Given the description of an element on the screen output the (x, y) to click on. 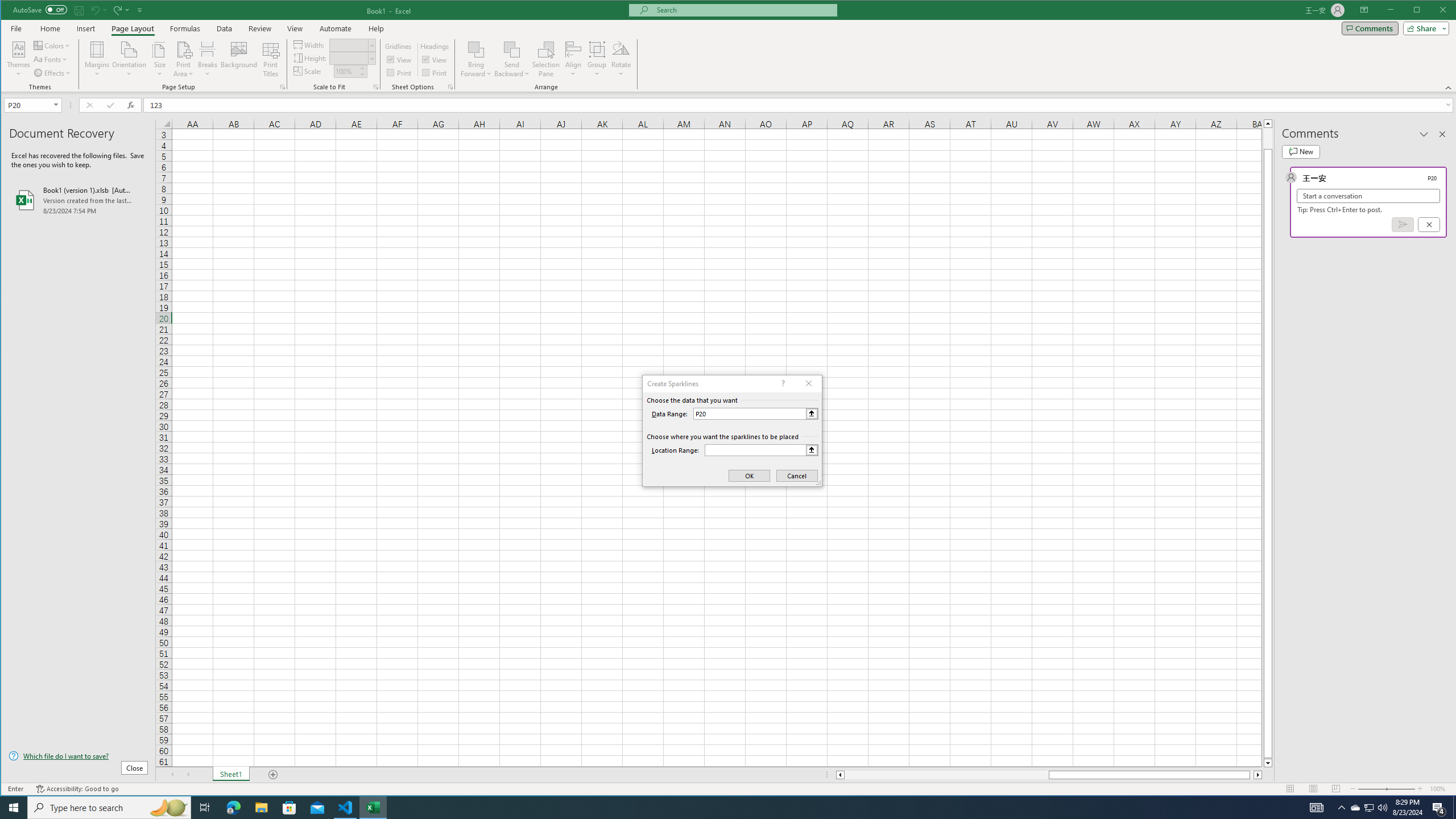
Orientation (129, 59)
Width (349, 45)
Which file do I want to save? (78, 755)
Selection Pane... (546, 59)
Send Backward (512, 59)
New comment (1300, 151)
Themes (18, 59)
Rotate (620, 59)
